Given the description of an element on the screen output the (x, y) to click on. 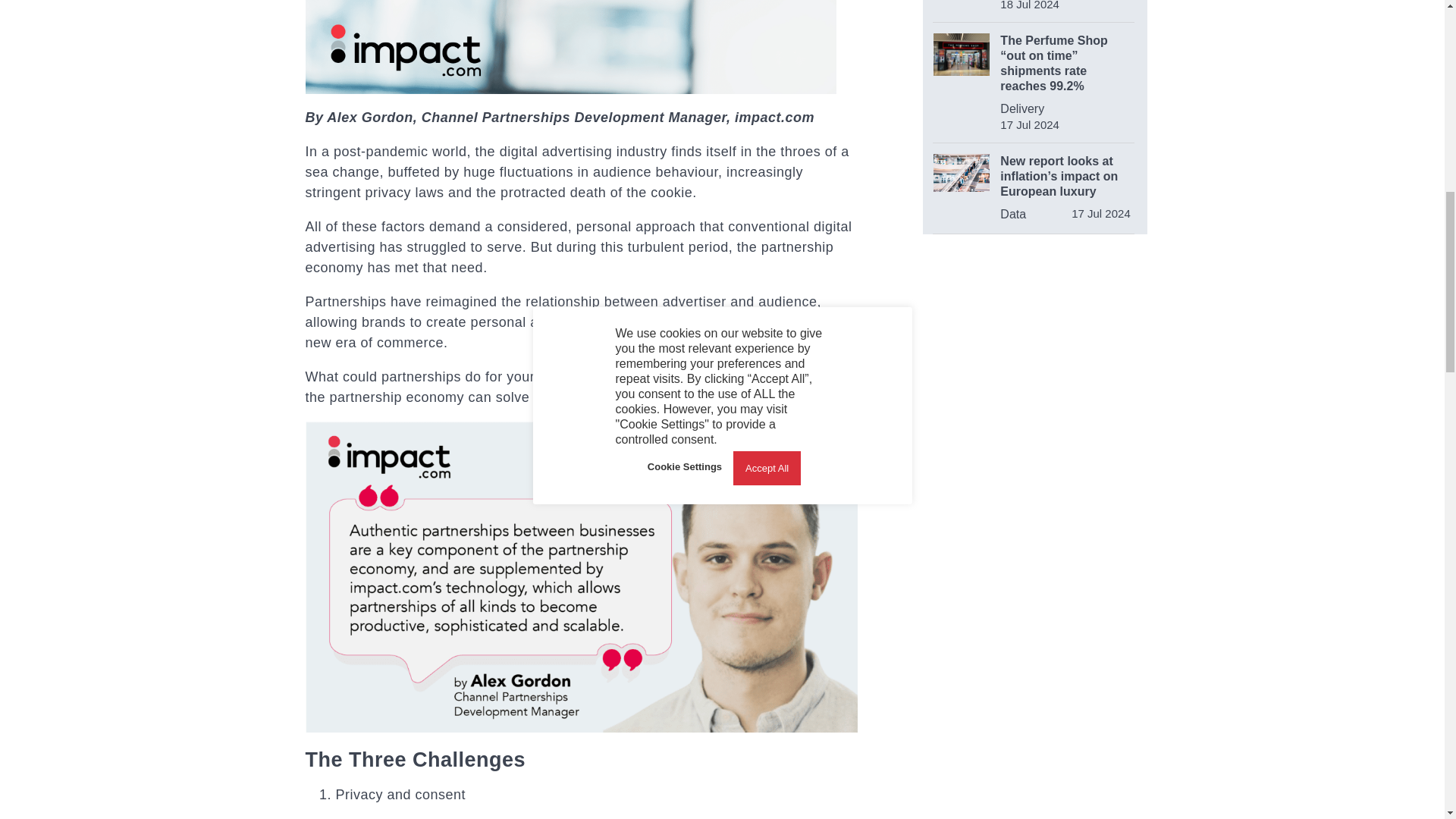
3rd party ad content (1034, 351)
3rd party ad content (1035, 564)
